Given the description of an element on the screen output the (x, y) to click on. 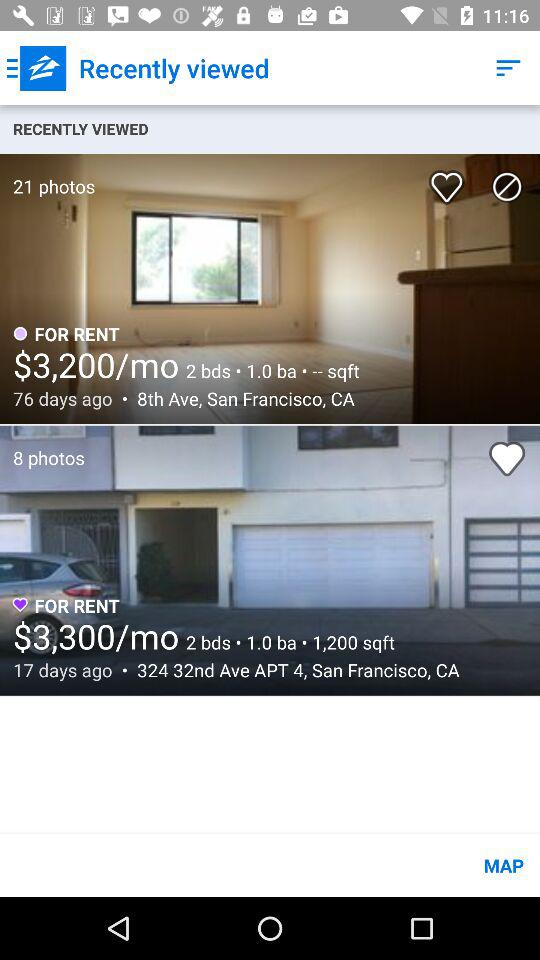
choose the item next to the 21 photos (450, 180)
